Given the description of an element on the screen output the (x, y) to click on. 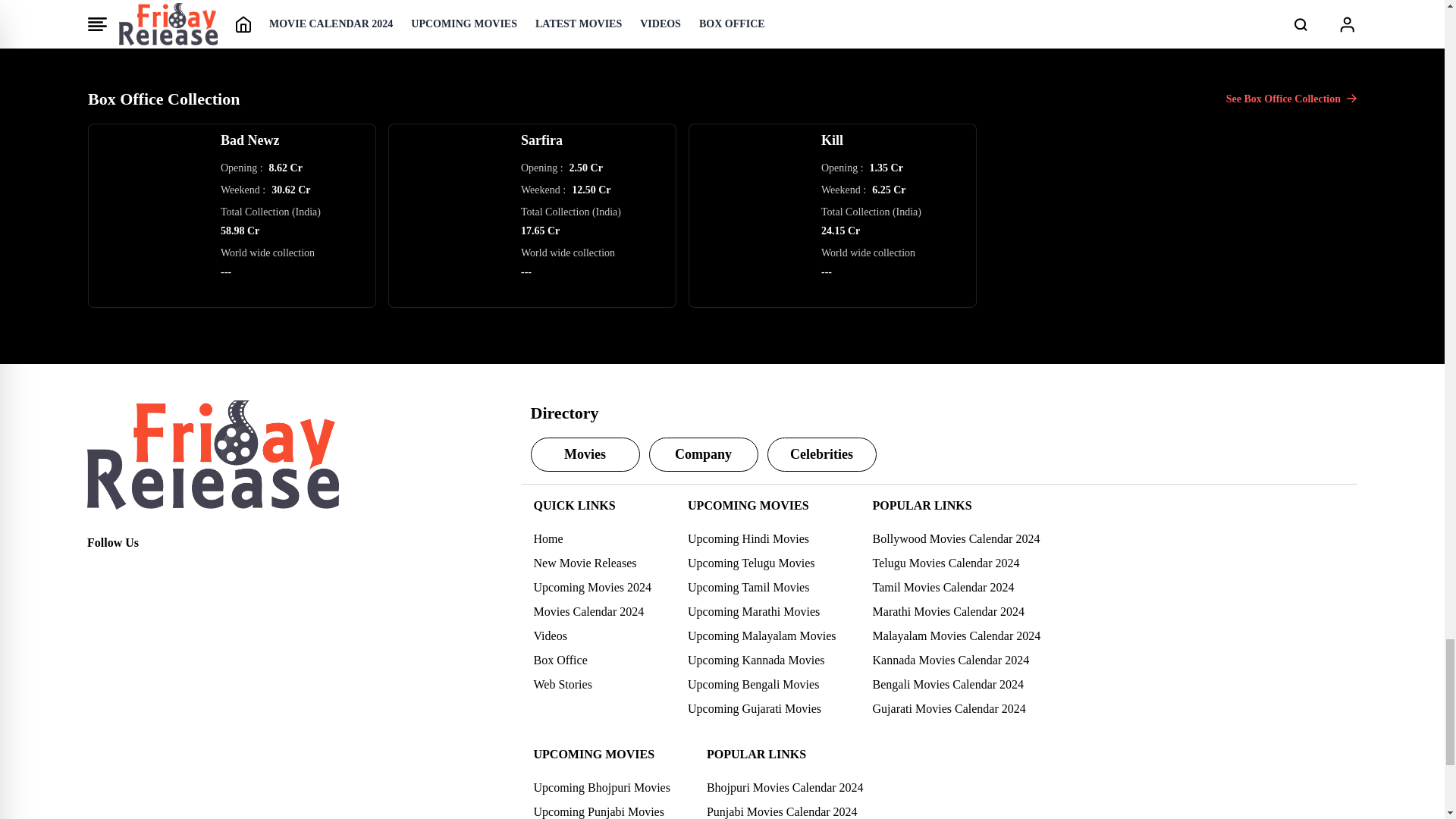
Youtube Page (199, 569)
Instagram Page (165, 569)
Twitter Page (132, 569)
Facebook Page (99, 569)
